Given the description of an element on the screen output the (x, y) to click on. 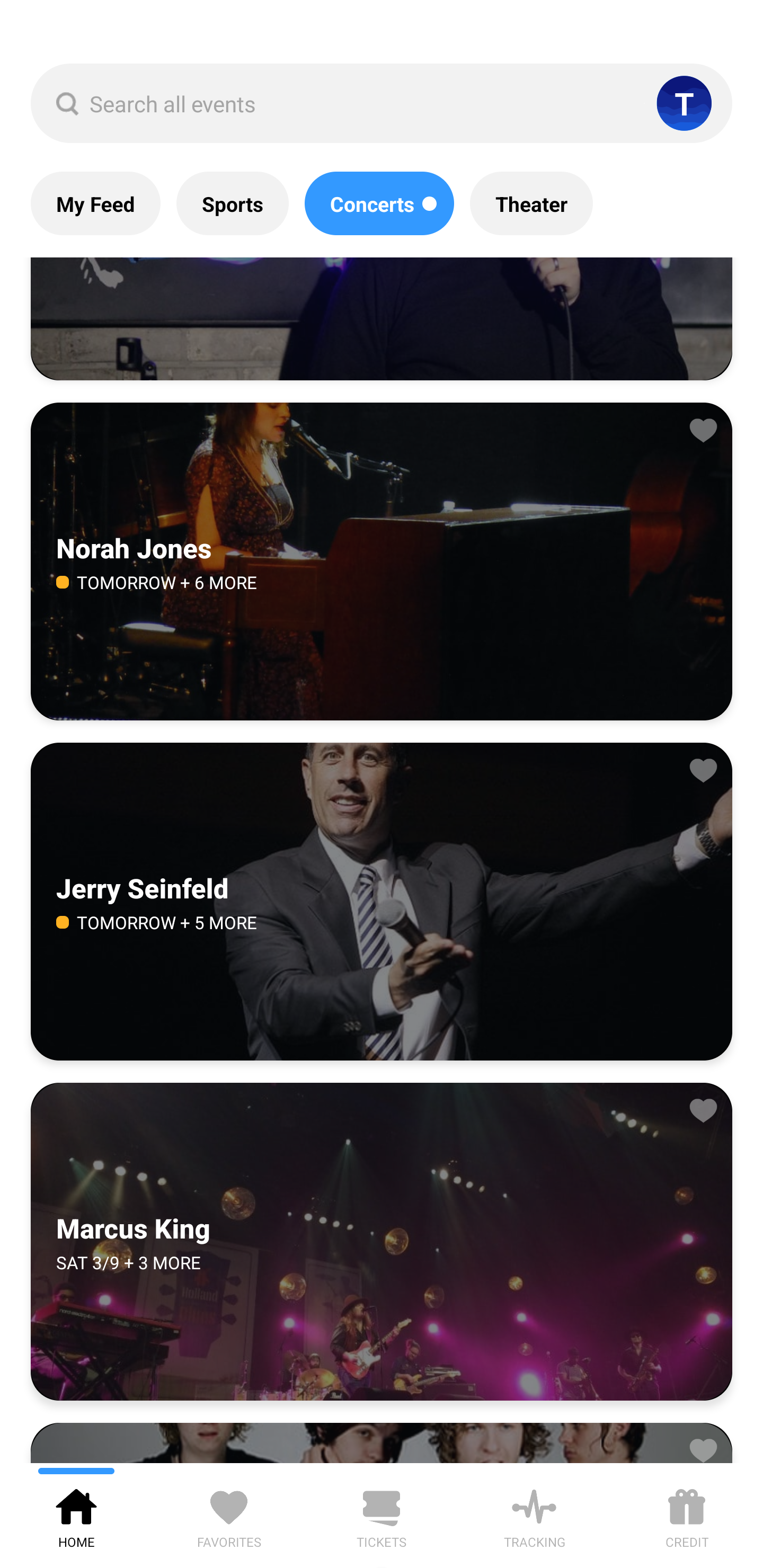
Search all events (381, 103)
T (683, 102)
My Feed (95, 202)
Sports (232, 202)
Concerts (378, 202)
Theater (531, 202)
HOME (76, 1515)
FAVORITES (228, 1515)
TICKETS (381, 1515)
TRACKING (533, 1515)
CREDIT (686, 1515)
